Given the description of an element on the screen output the (x, y) to click on. 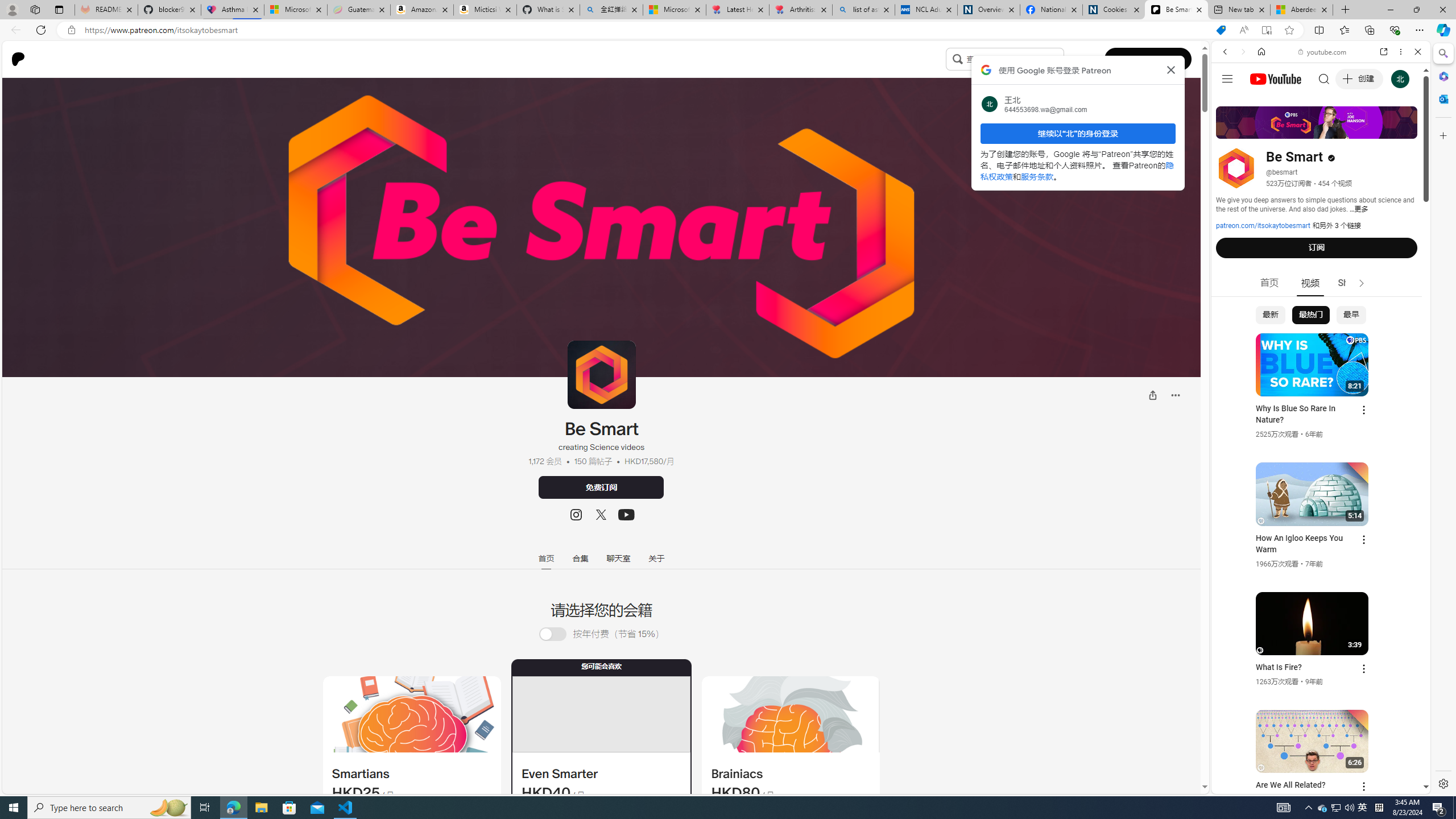
App bar (728, 29)
Search videos from youtube.com (1299, 373)
